Given the description of an element on the screen output the (x, y) to click on. 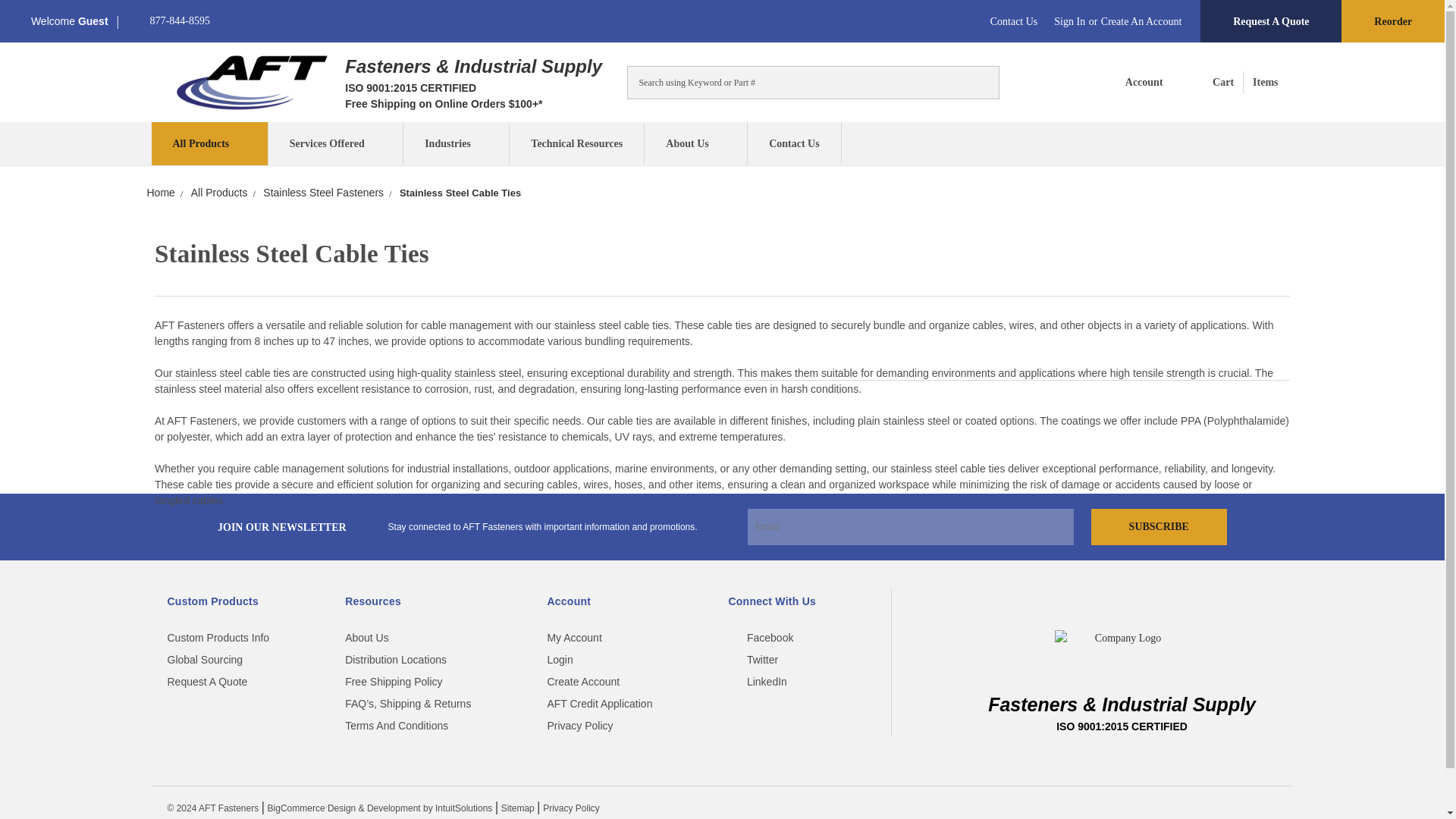
877-844-8595 (1229, 82)
Create An Account (168, 21)
Toggle Mobile Search (1142, 21)
Sign In (980, 79)
Reorder (1069, 21)
Account (1393, 21)
All Products (1132, 81)
AFT Fasteners (209, 143)
Subscribe (251, 82)
